Given the description of an element on the screen output the (x, y) to click on. 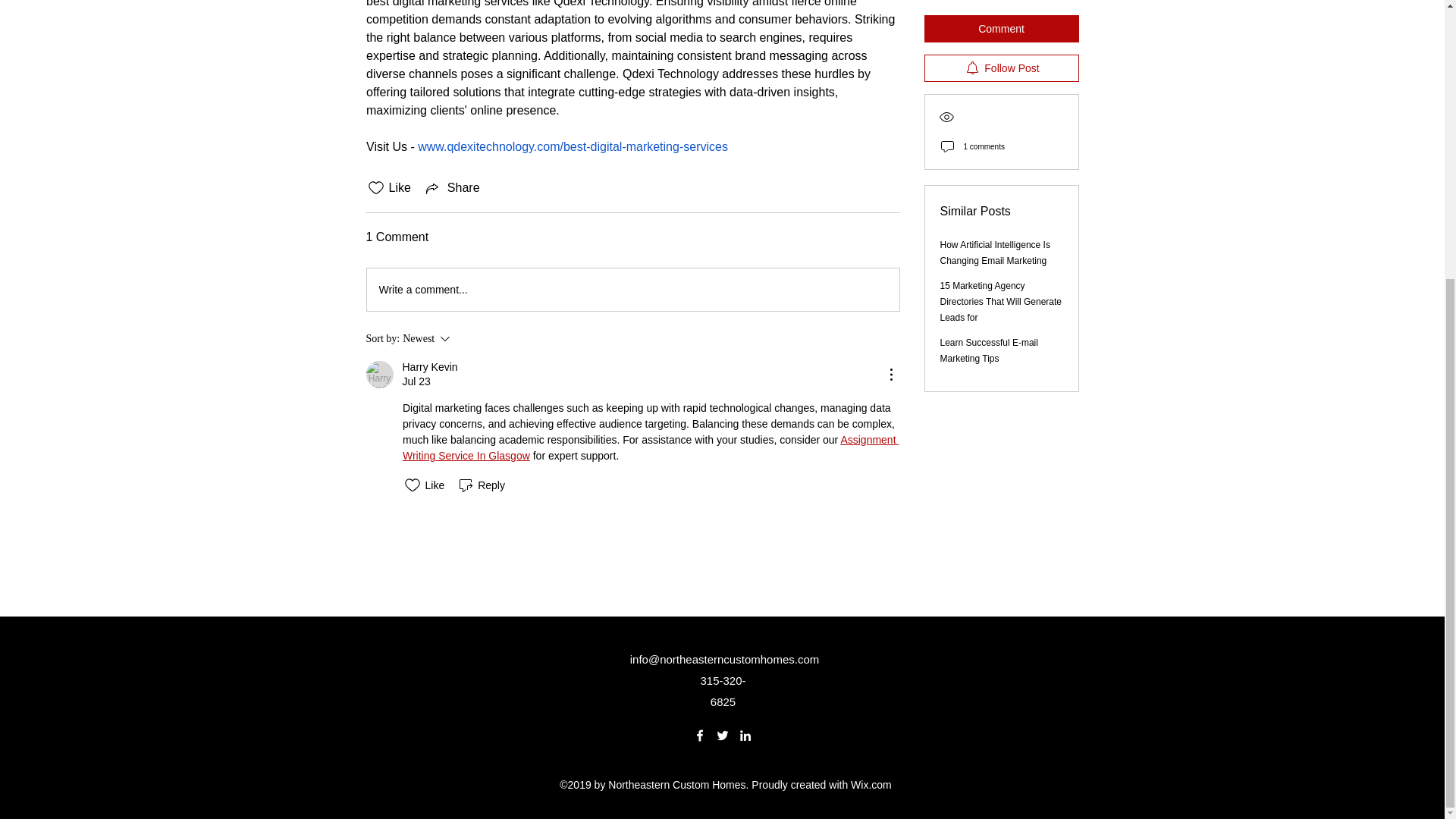
How Artificial Intelligence Is Changing Email Marketing (994, 105)
Reply (471, 339)
Harry Kevin (481, 484)
Write a comment... (429, 367)
Harry Kevin (632, 289)
Learn Successful E-mail Marketing Tips (379, 374)
Assignment Writing Service In Glasgow (989, 203)
Share (649, 447)
15 Marketing Agency Directories That Will Generate Leads for (451, 188)
